Given the description of an element on the screen output the (x, y) to click on. 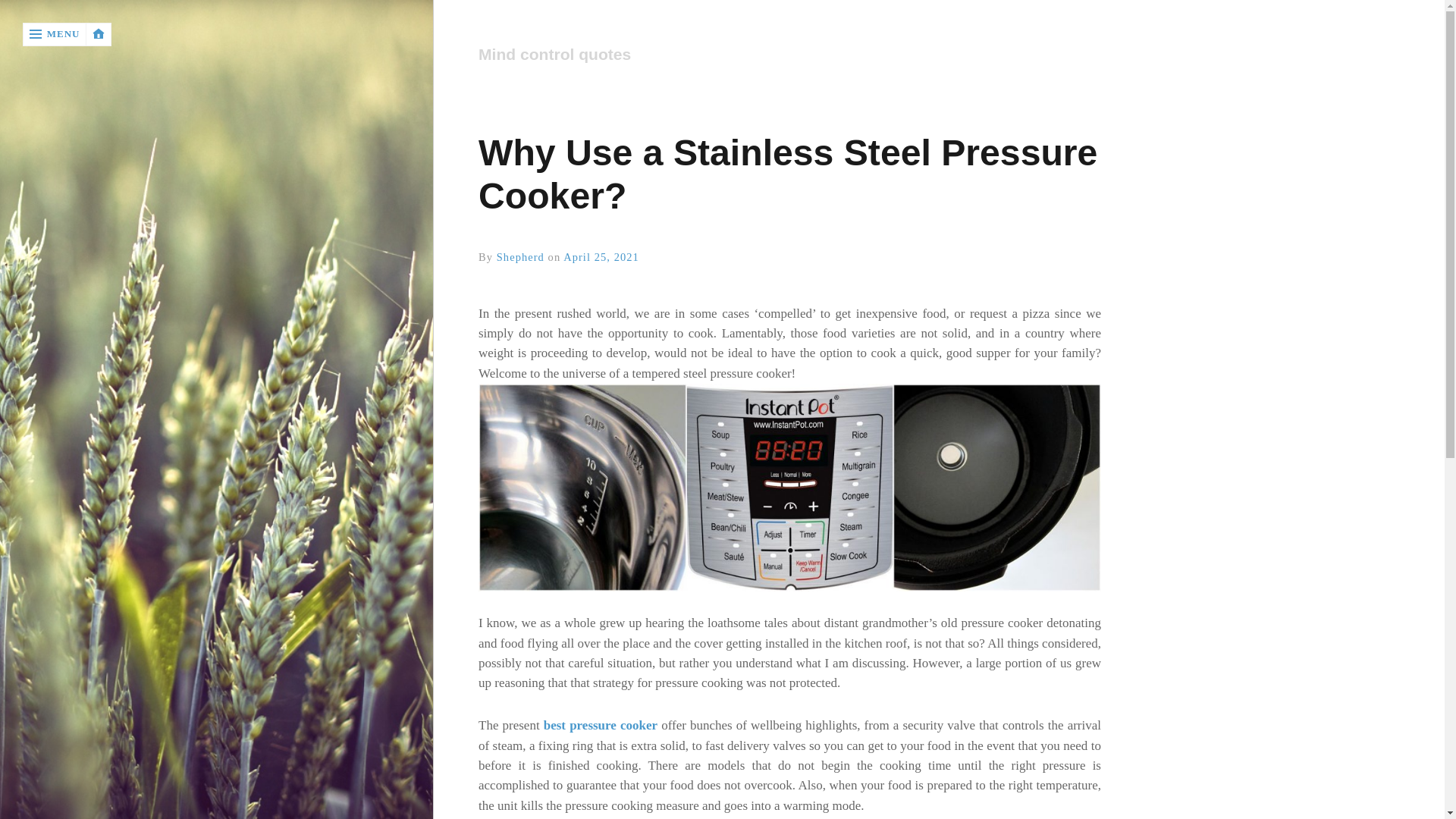
April 25, 2021 (601, 256)
View all posts by Shepherd (520, 256)
Home (789, 54)
9:45 am (601, 256)
Shepherd (520, 256)
MENU (55, 33)
best pressure cooker (600, 725)
Mind control quotes (784, 54)
